Given the description of an element on the screen output the (x, y) to click on. 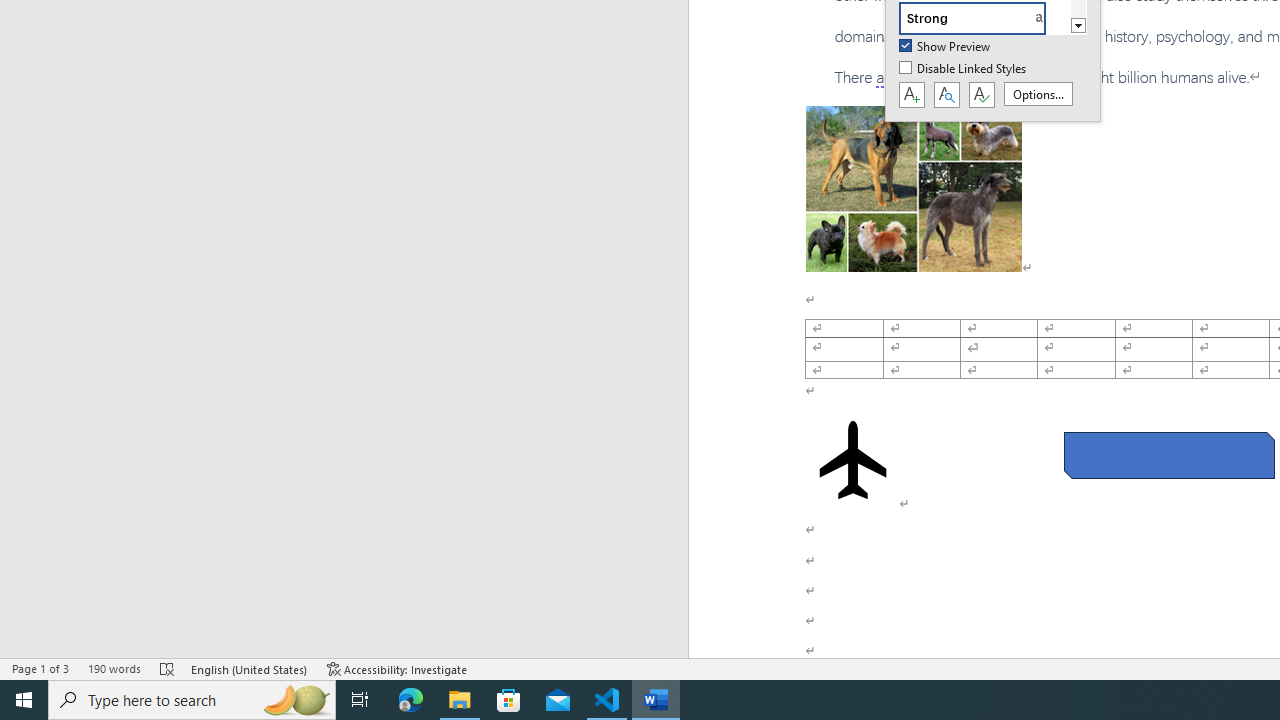
Class: NetUIButton (981, 95)
Rectangle: Diagonal Corners Snipped 2 (1168, 455)
Disable Linked Styles (964, 69)
Options... (1037, 93)
Strong (984, 18)
Page Number Page 1 of 3 (39, 668)
Show Preview (946, 47)
